Given the description of an element on the screen output the (x, y) to click on. 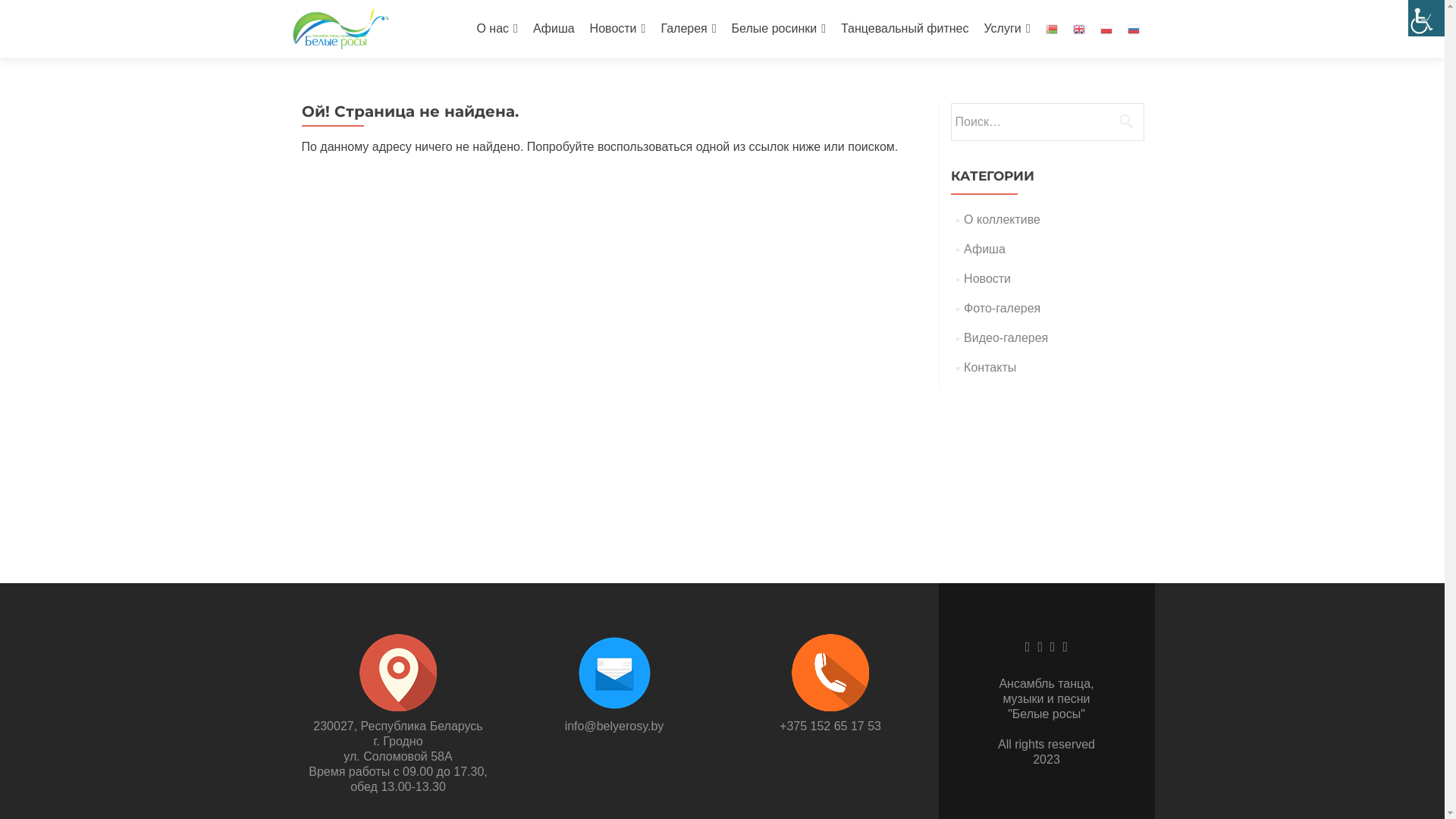
Russian Element type: hover (1132, 28)
Accessibility Helper sidebar Element type: hover (1426, 18)
Polish Element type: hover (1105, 28)
Belarusian Element type: hover (1050, 28)
English Element type: hover (1078, 28)
